Given the description of an element on the screen output the (x, y) to click on. 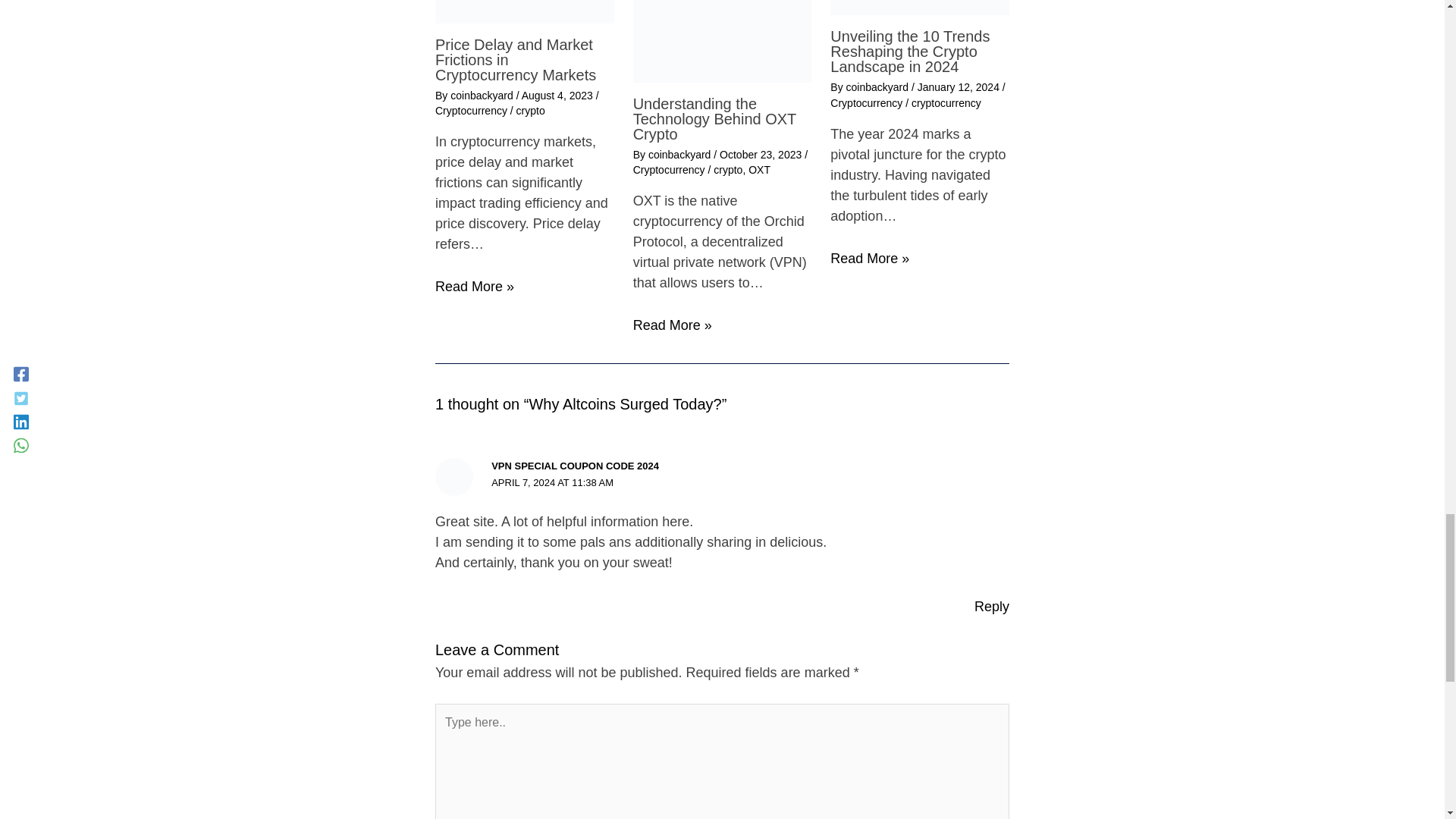
View all posts by coinbackyard (482, 95)
Price Delay and Market Frictions in Cryptocurrency Markets (515, 59)
View all posts by coinbackyard (680, 154)
View all posts by coinbackyard (878, 87)
